Given the description of an element on the screen output the (x, y) to click on. 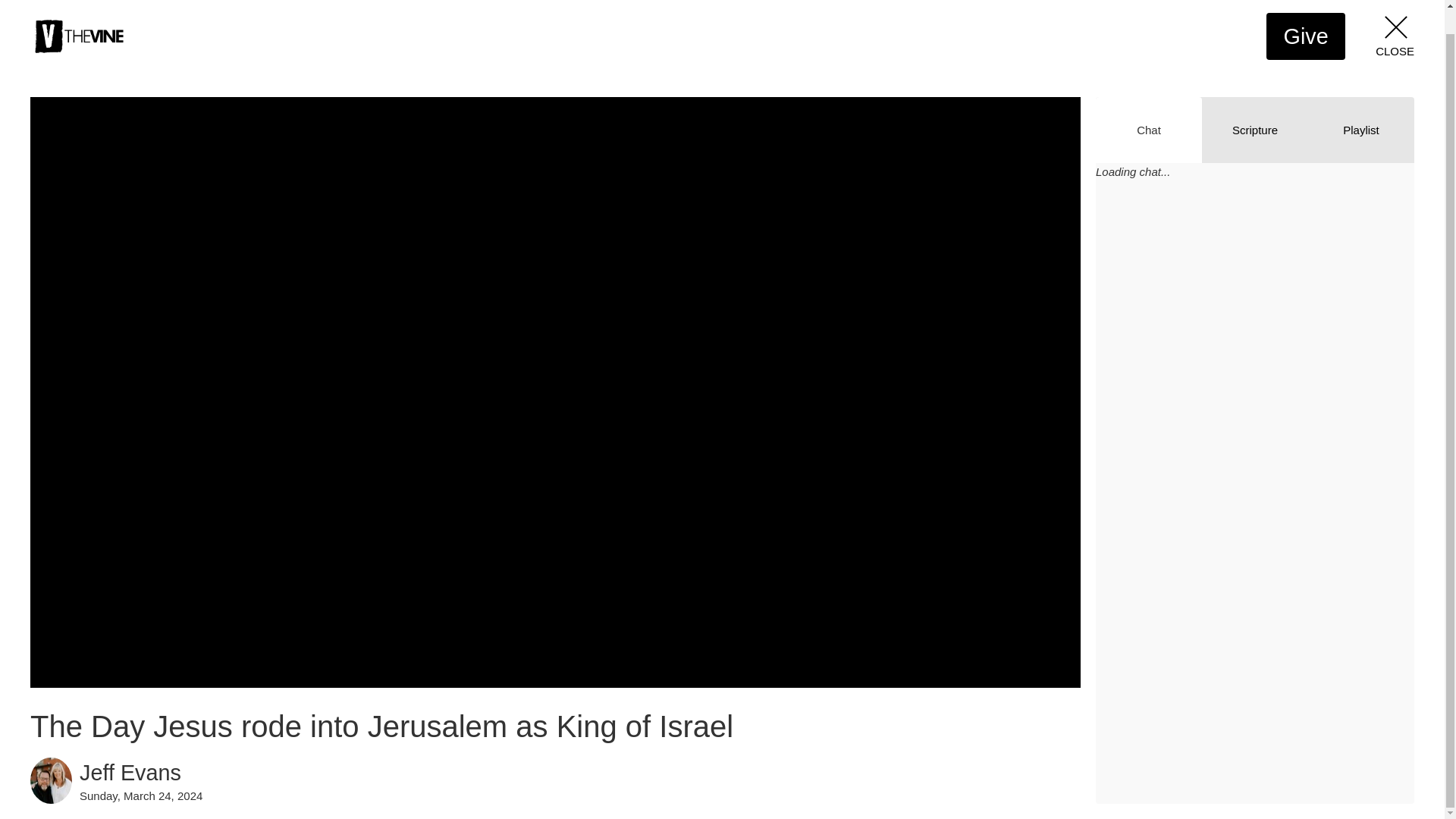
Give (1305, 36)
